Given the description of an element on the screen output the (x, y) to click on. 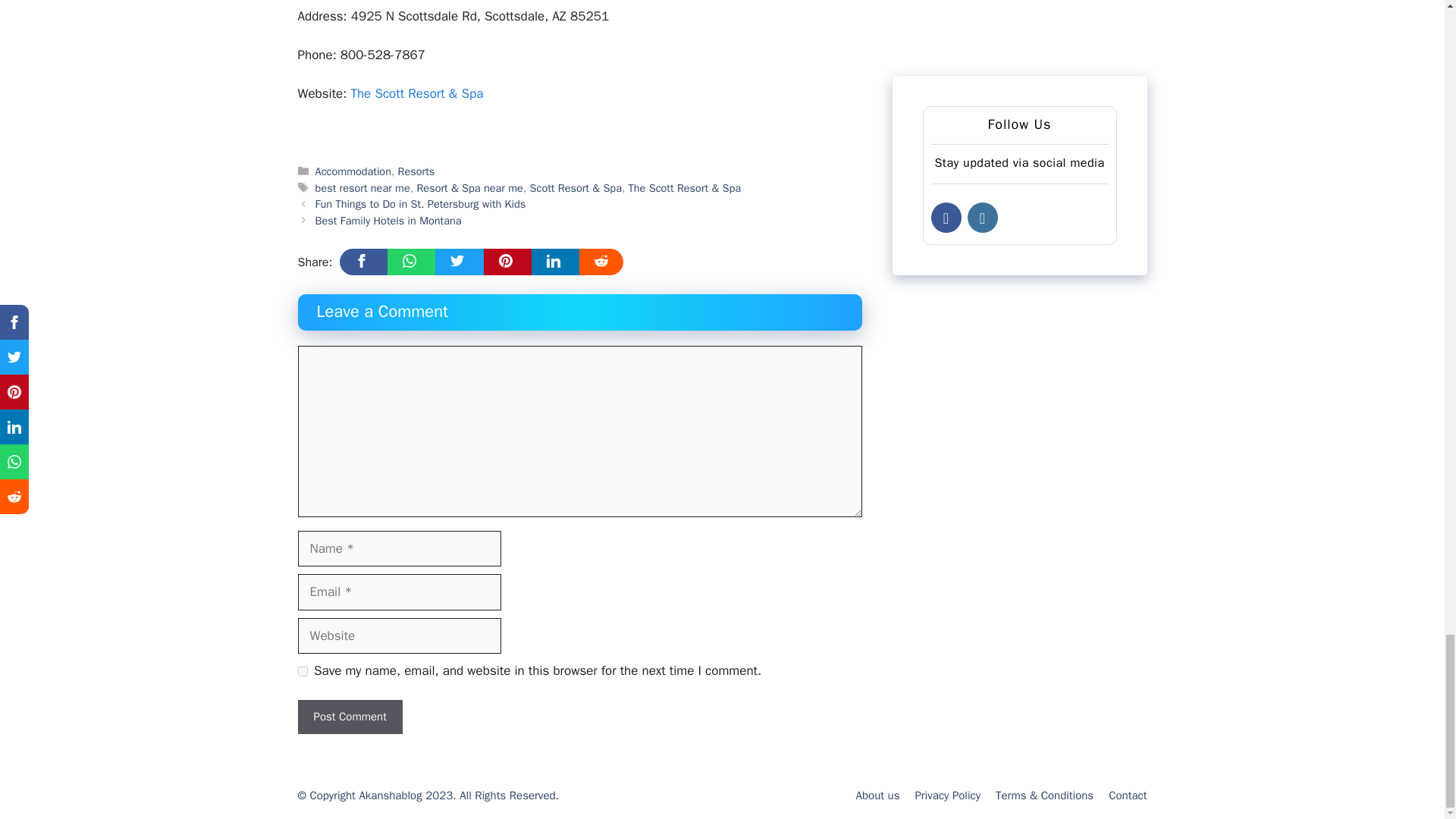
yes (302, 671)
Resorts (416, 171)
best resort near me (362, 187)
Accommodation (353, 171)
Post Comment (349, 716)
